Given the description of an element on the screen output the (x, y) to click on. 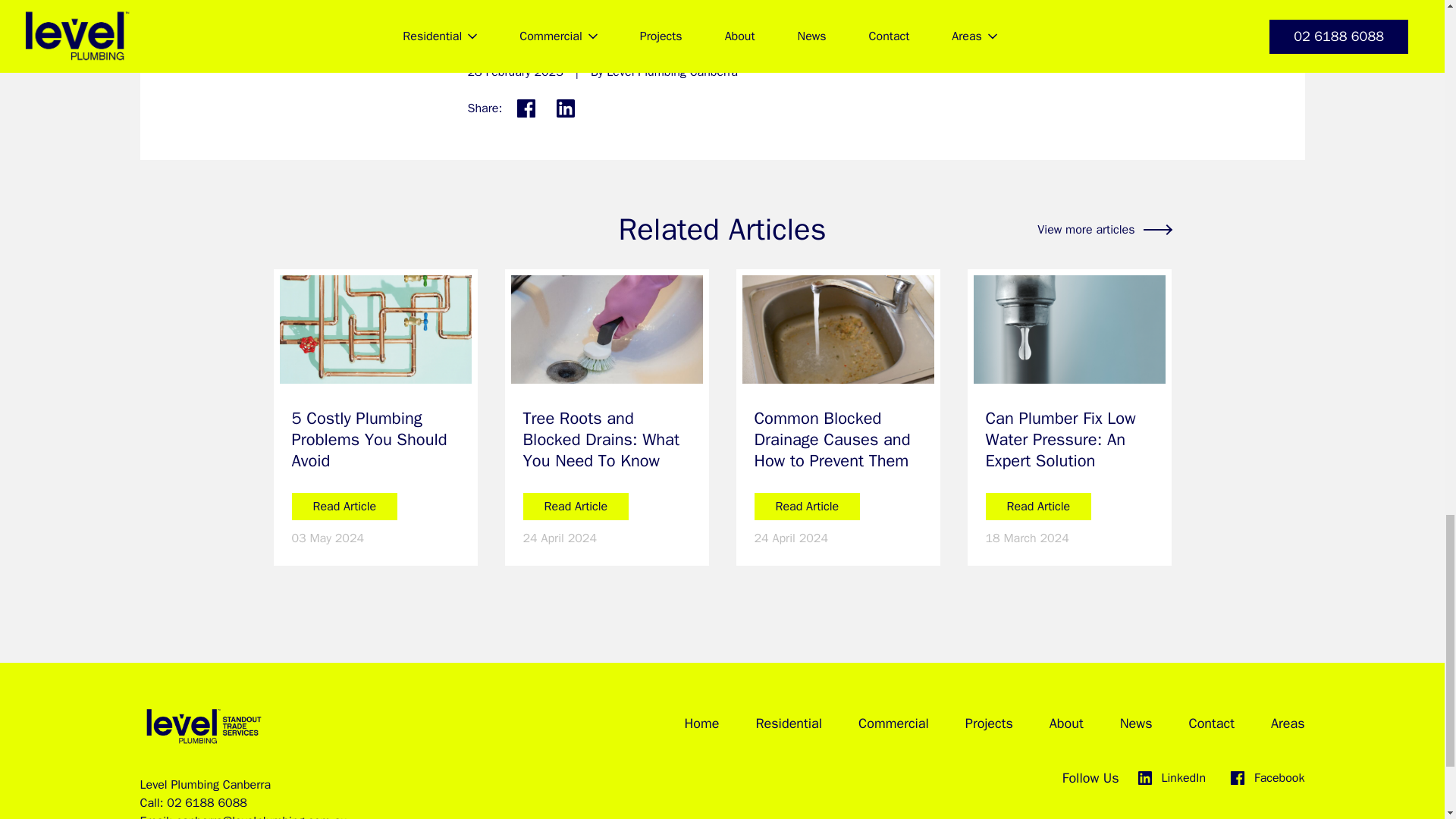
Share on LinkedIn (565, 108)
Share on Facebook (526, 108)
